Given the description of an element on the screen output the (x, y) to click on. 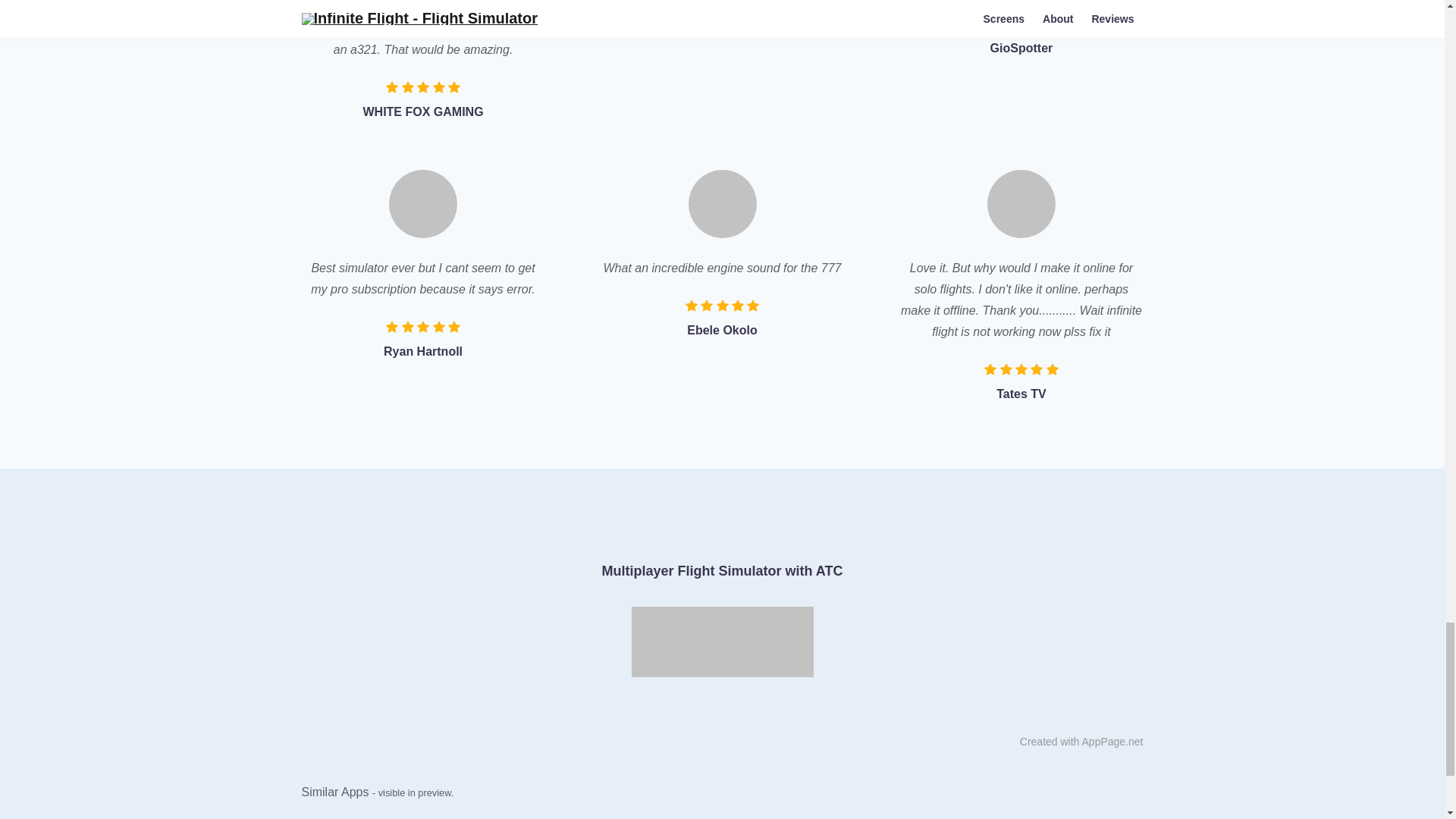
AppPage.net (1111, 741)
